Given the description of an element on the screen output the (x, y) to click on. 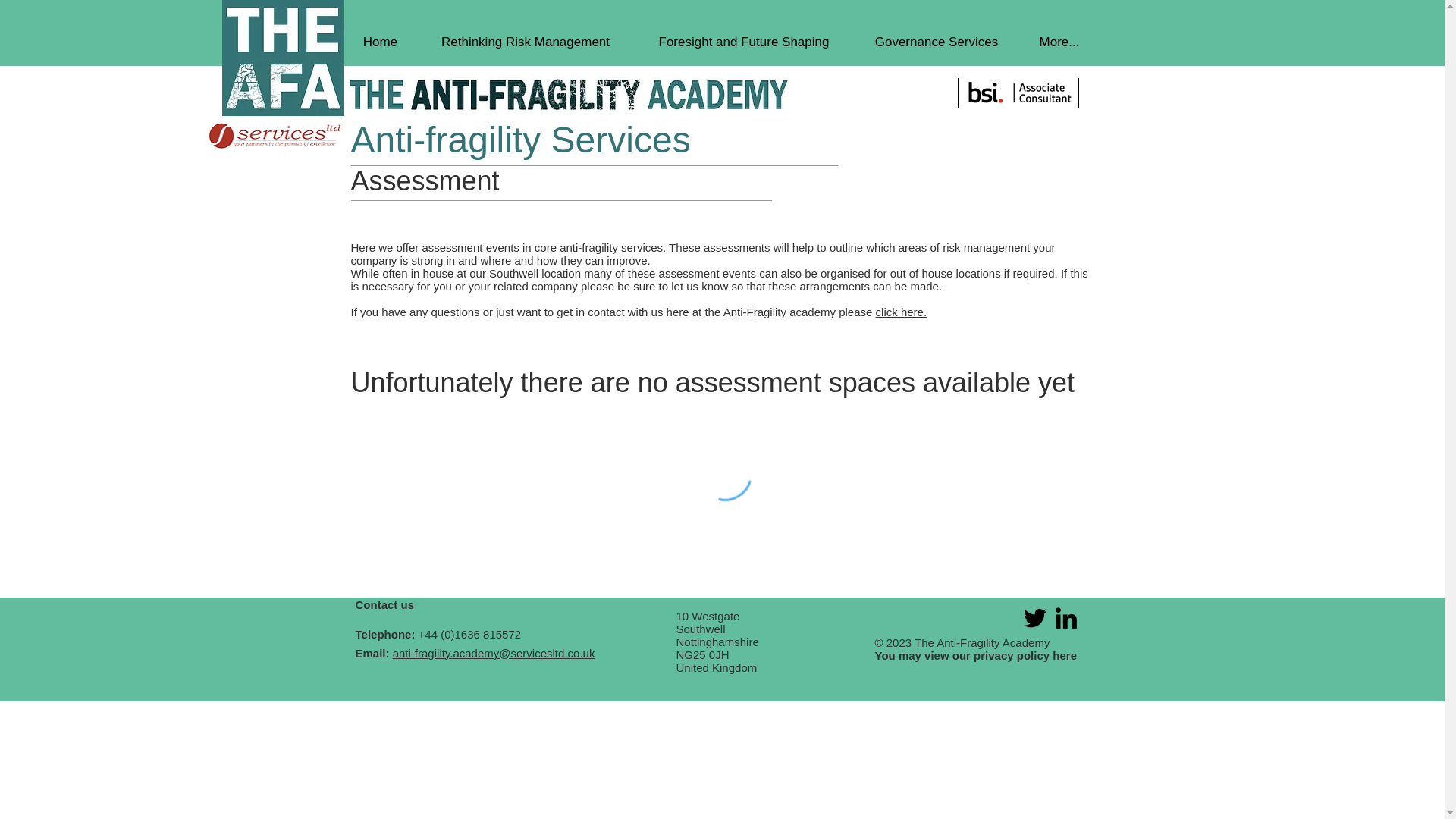
Home (379, 42)
Rethinking Risk Management (524, 42)
You may view our privacy policy here (976, 655)
click here. (901, 311)
Foresight and Future Shaping (743, 42)
Governance Services (935, 42)
